Given the description of an element on the screen output the (x, y) to click on. 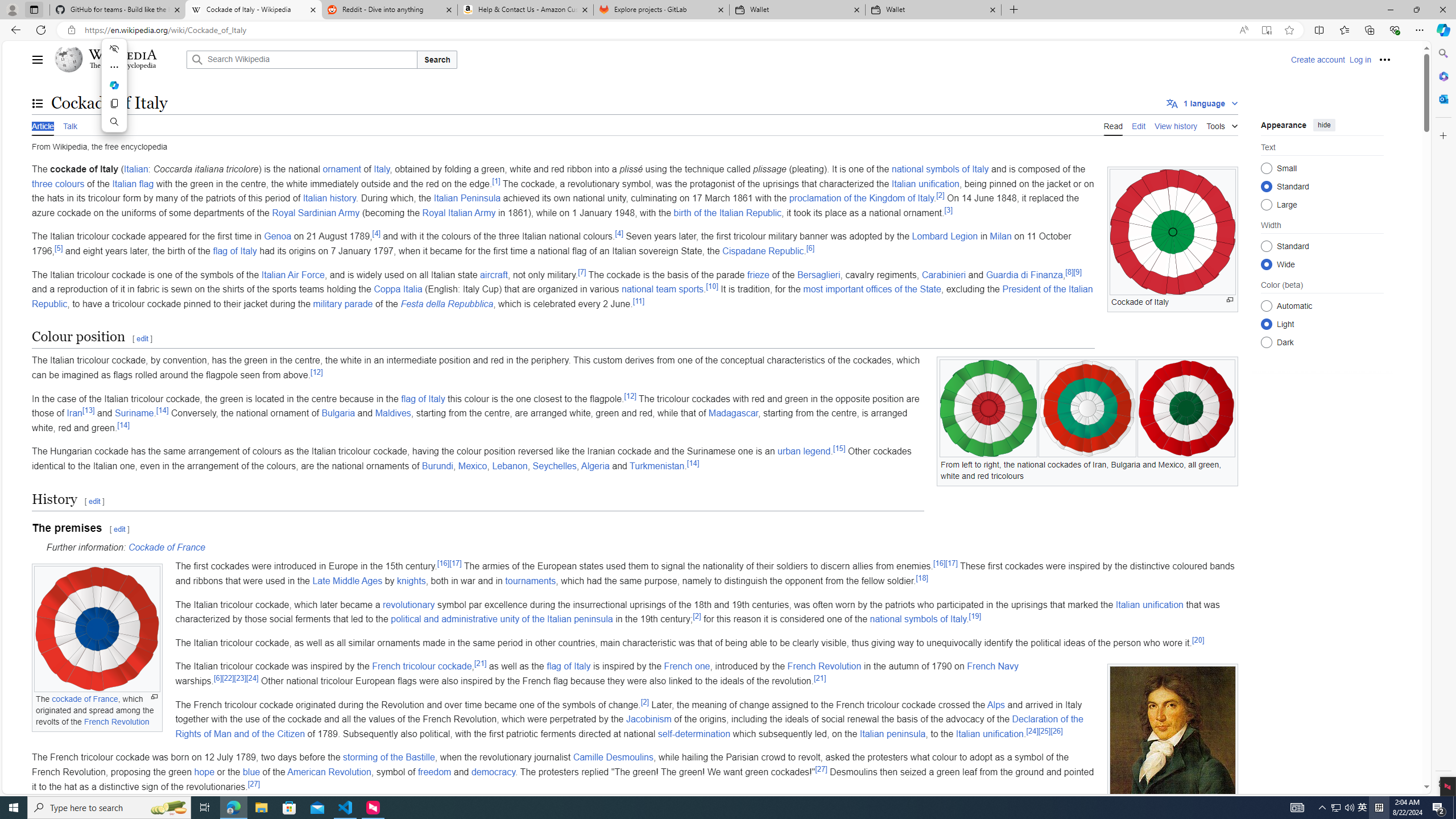
Madagascar (732, 413)
[3] (947, 209)
Lombard Legion (944, 236)
Italian unification (989, 733)
